Given the description of an element on the screen output the (x, y) to click on. 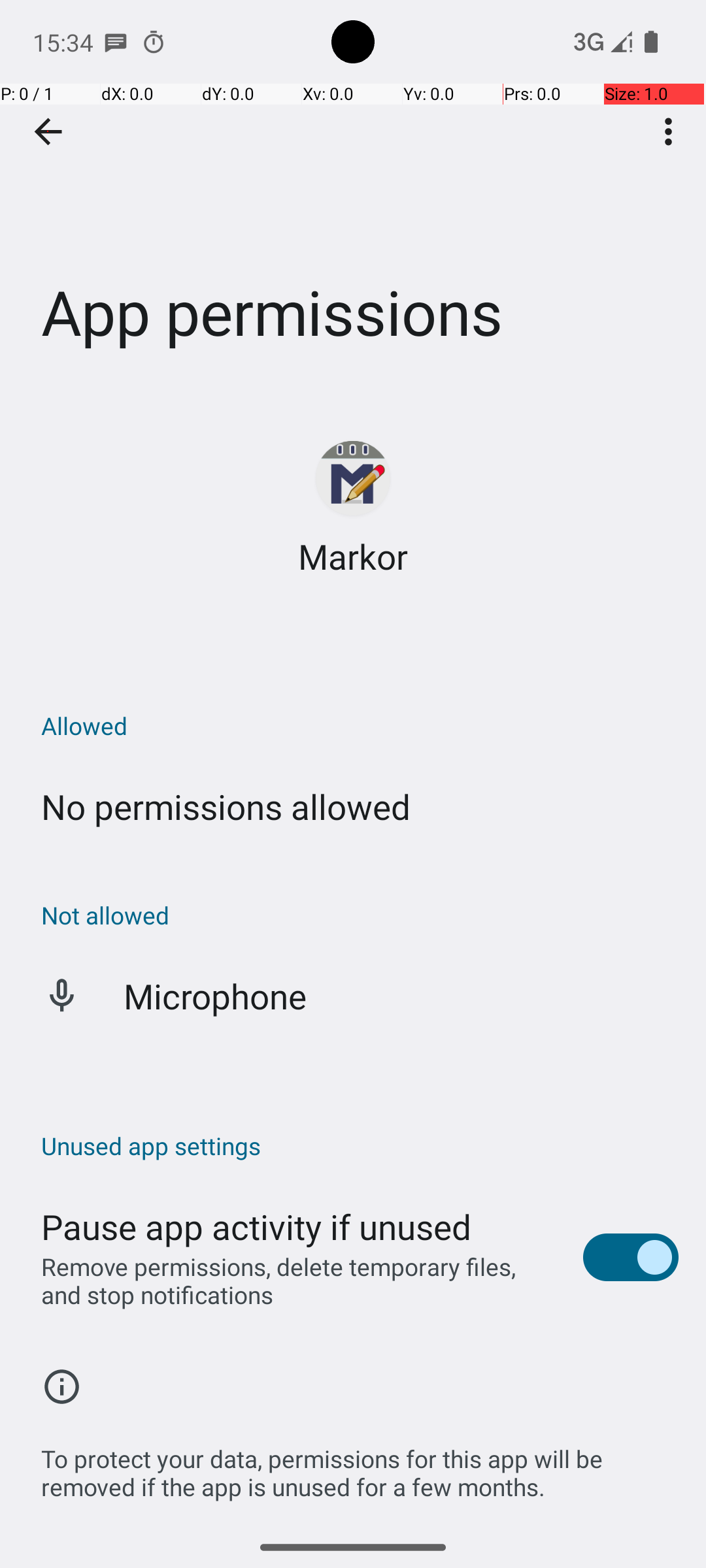
App permissions Element type: android.widget.FrameLayout (353, 195)
No permissions allowed Element type: android.widget.TextView (225, 806)
Microphone Element type: android.widget.TextView (215, 995)
Unused app settings Element type: android.widget.TextView (359, 1145)
Pause app activity if unused Element type: android.widget.TextView (256, 1226)
Remove permissions, delete temporary files, and stop notifications Element type: android.widget.TextView (298, 1280)
To protect your data, permissions for this app will be removed if the app is unused for a few months. Element type: android.widget.TextView (359, 1465)
